Given the description of an element on the screen output the (x, y) to click on. 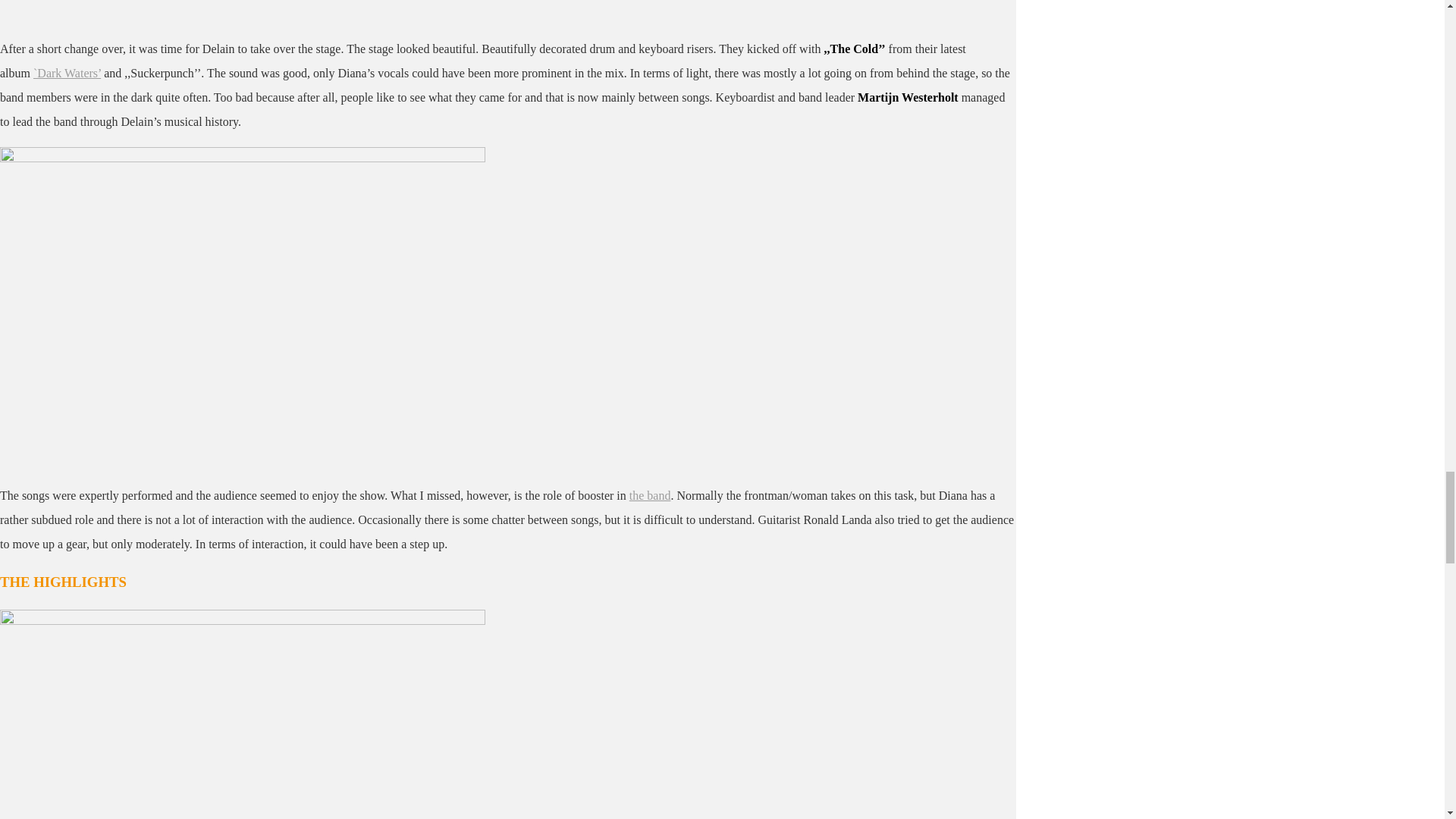
the band (649, 495)
